Given the description of an element on the screen output the (x, y) to click on. 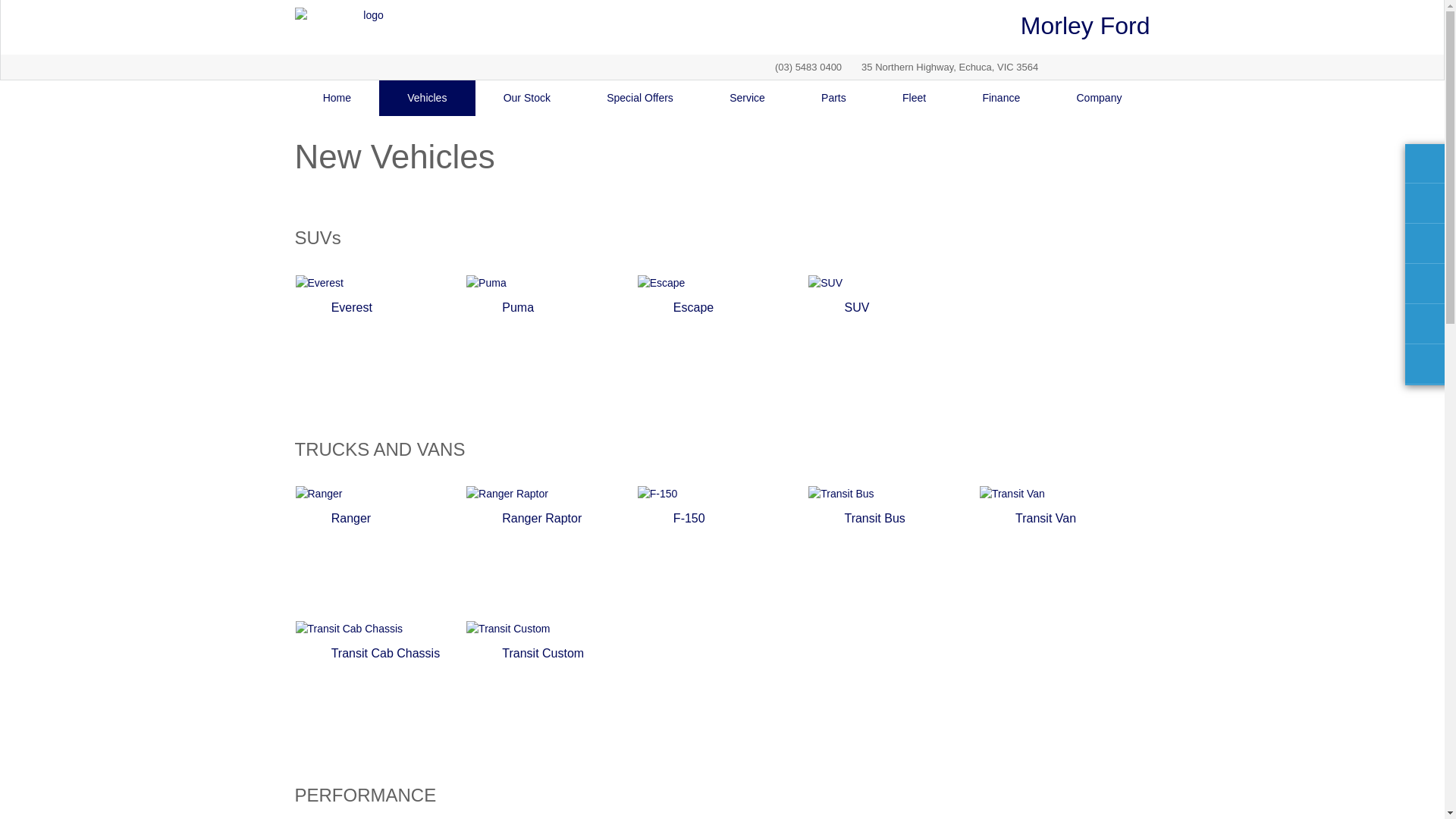
Ranger Raptor Element type: text (551, 552)
Everest Element type: text (379, 341)
Transit Custom Element type: text (551, 687)
35 Northern Highway, Echuca, VIC 3564 Element type: text (942, 66)
(03) 5483 0400 Element type: text (808, 66)
Company Element type: text (1098, 98)
SUV Element type: text (893, 341)
F-150 Element type: text (722, 552)
Instagram Element type: text (1132, 66)
Transit Van Element type: text (1064, 552)
Special Offers Element type: text (639, 98)
Fleet Element type: text (913, 98)
Home Element type: text (336, 98)
Puma Element type: text (551, 341)
Vehicles Element type: text (426, 98)
Our Stock Element type: text (527, 98)
Parts Element type: text (833, 98)
Escape Element type: text (722, 341)
Ranger Element type: text (379, 552)
Service Element type: text (747, 98)
Transit Bus Element type: text (893, 552)
Transit Cab Chassis Element type: text (379, 687)
Finance Element type: text (1000, 98)
